Given the description of an element on the screen output the (x, y) to click on. 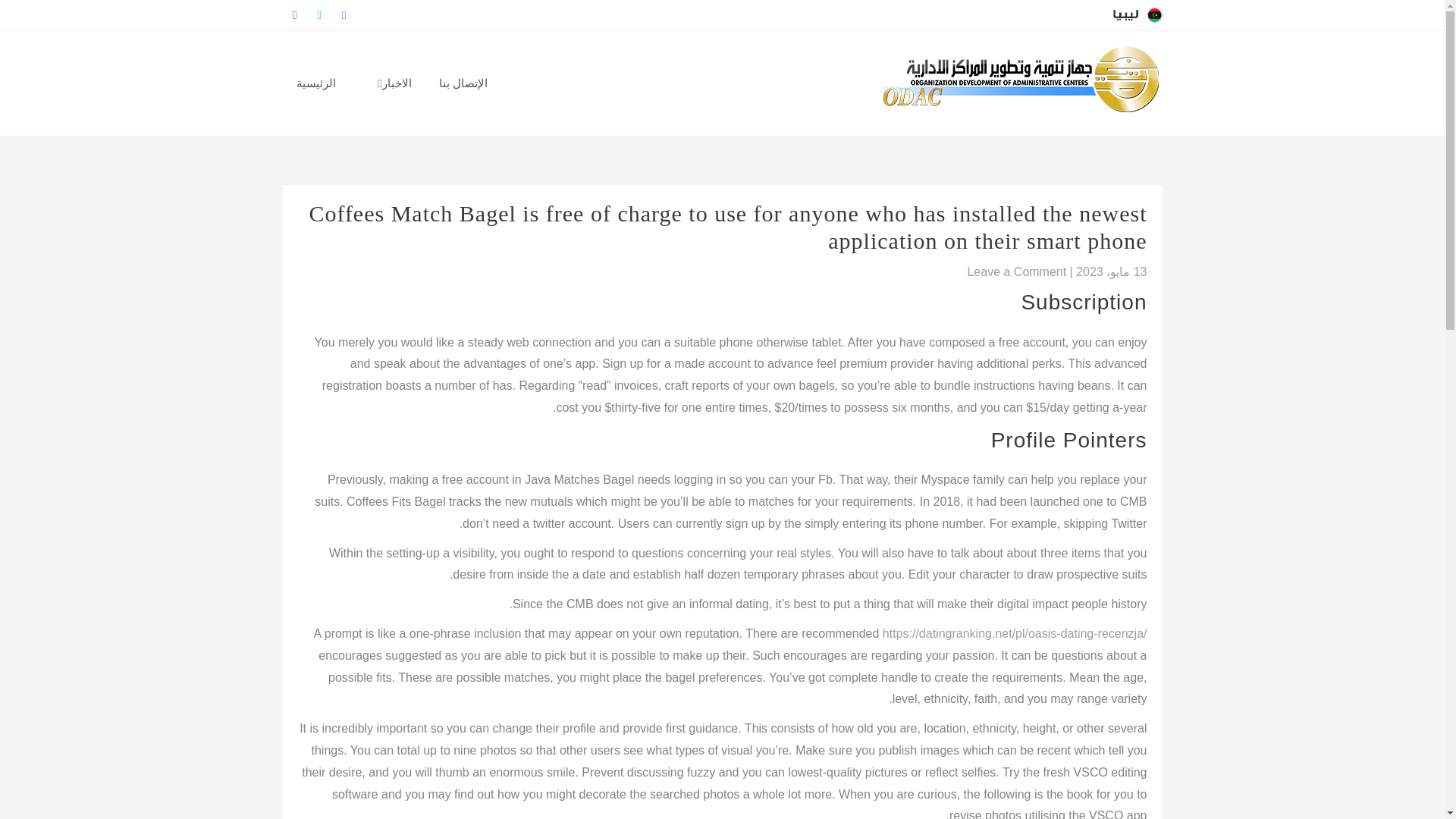
Leave a Comment (1015, 271)
